Given the description of an element on the screen output the (x, y) to click on. 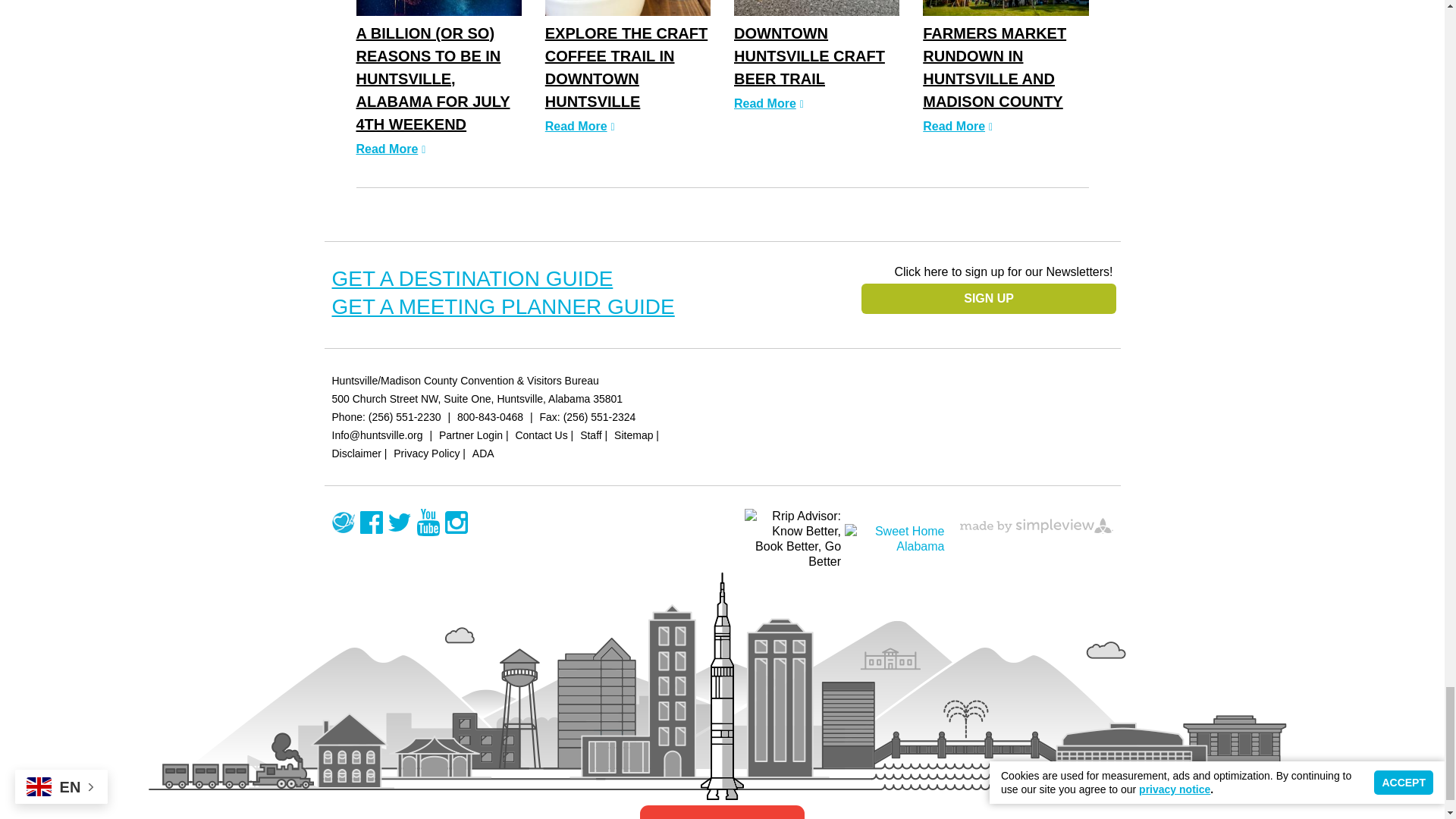
SIGN UP (988, 298)
